Given the description of an element on the screen output the (x, y) to click on. 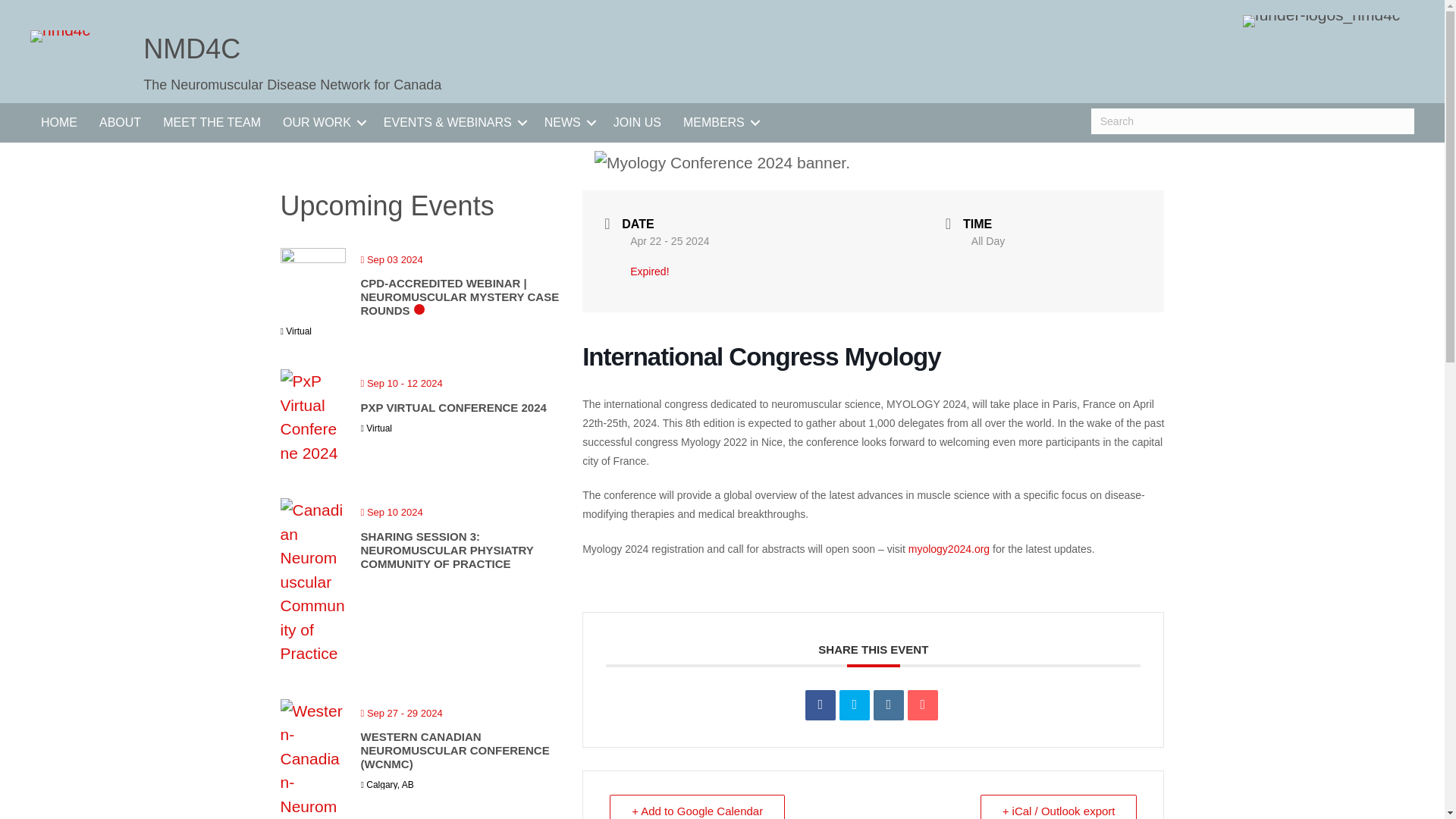
NEWS (568, 122)
Tweet (854, 705)
JOIN US (636, 122)
OUR WORK (322, 122)
NMD4C (191, 48)
NMD4C (191, 48)
MEMBERS (718, 122)
Email (922, 705)
Type and press Enter to search. (1251, 121)
ABOUT (119, 122)
